Given the description of an element on the screen output the (x, y) to click on. 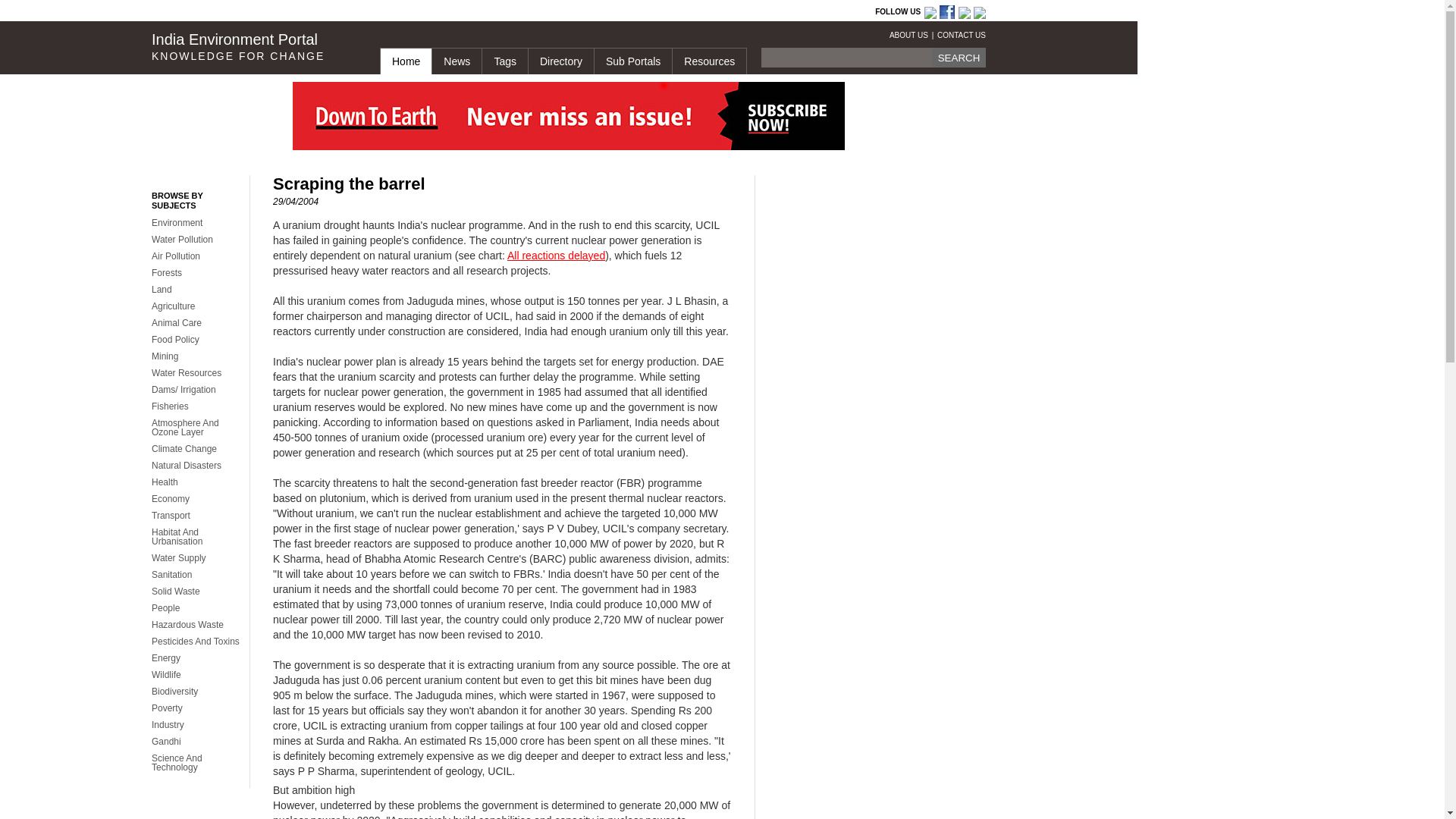
Rain Water Harvesting (418, 11)
CSE Store (500, 11)
News (455, 60)
Down to Earth (311, 11)
India Environment Portal KNOWLEDGE FOR CHANGE (253, 46)
Resources (708, 60)
Home (405, 60)
CSE (256, 11)
Directory (560, 60)
Renewable Energy (631, 11)
India Environment Portal (540, 11)
Sub Portals (632, 60)
Tags (504, 60)
Gobar Times (368, 11)
